Given the description of an element on the screen output the (x, y) to click on. 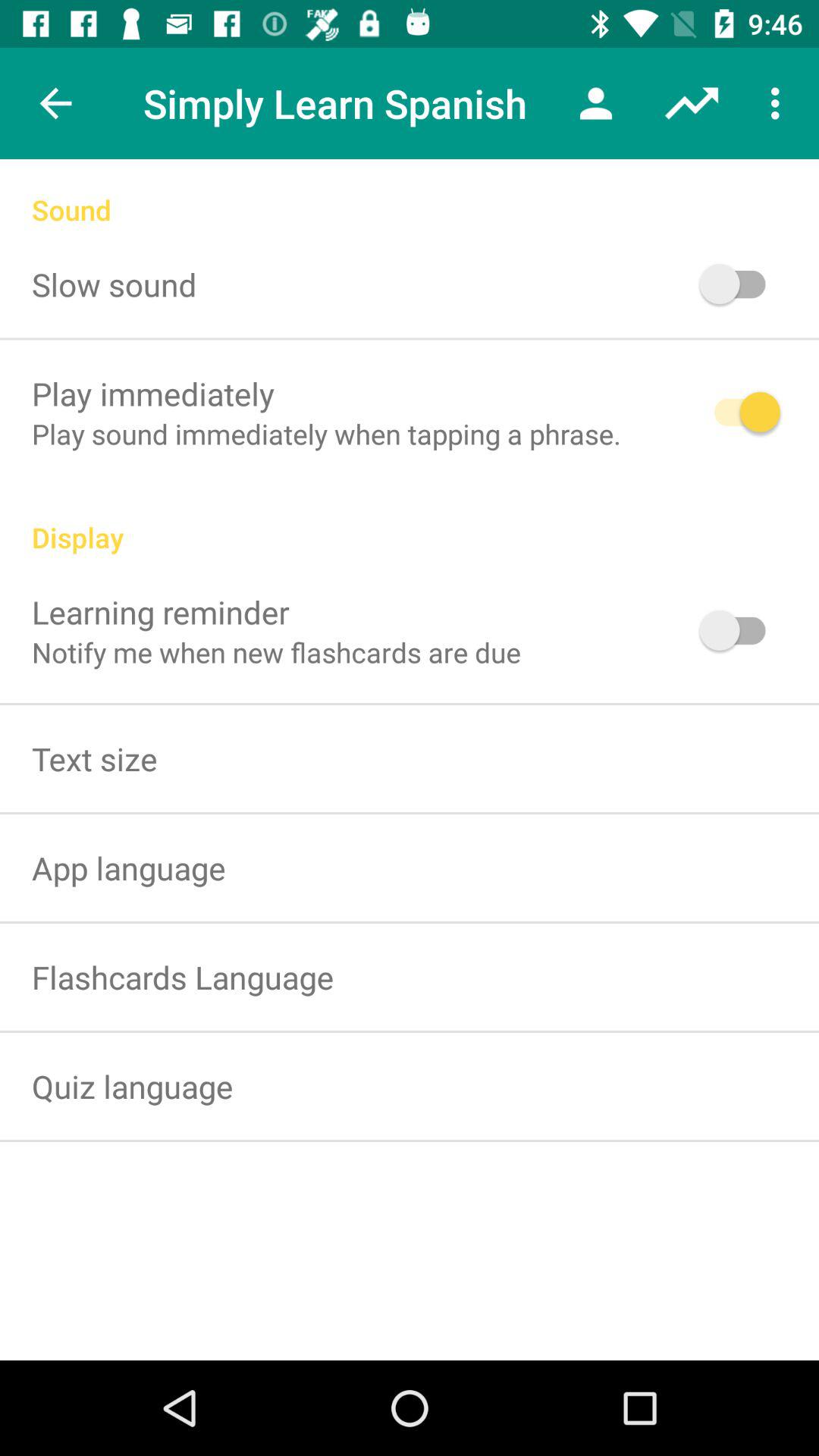
select the app language item (128, 867)
